Given the description of an element on the screen output the (x, y) to click on. 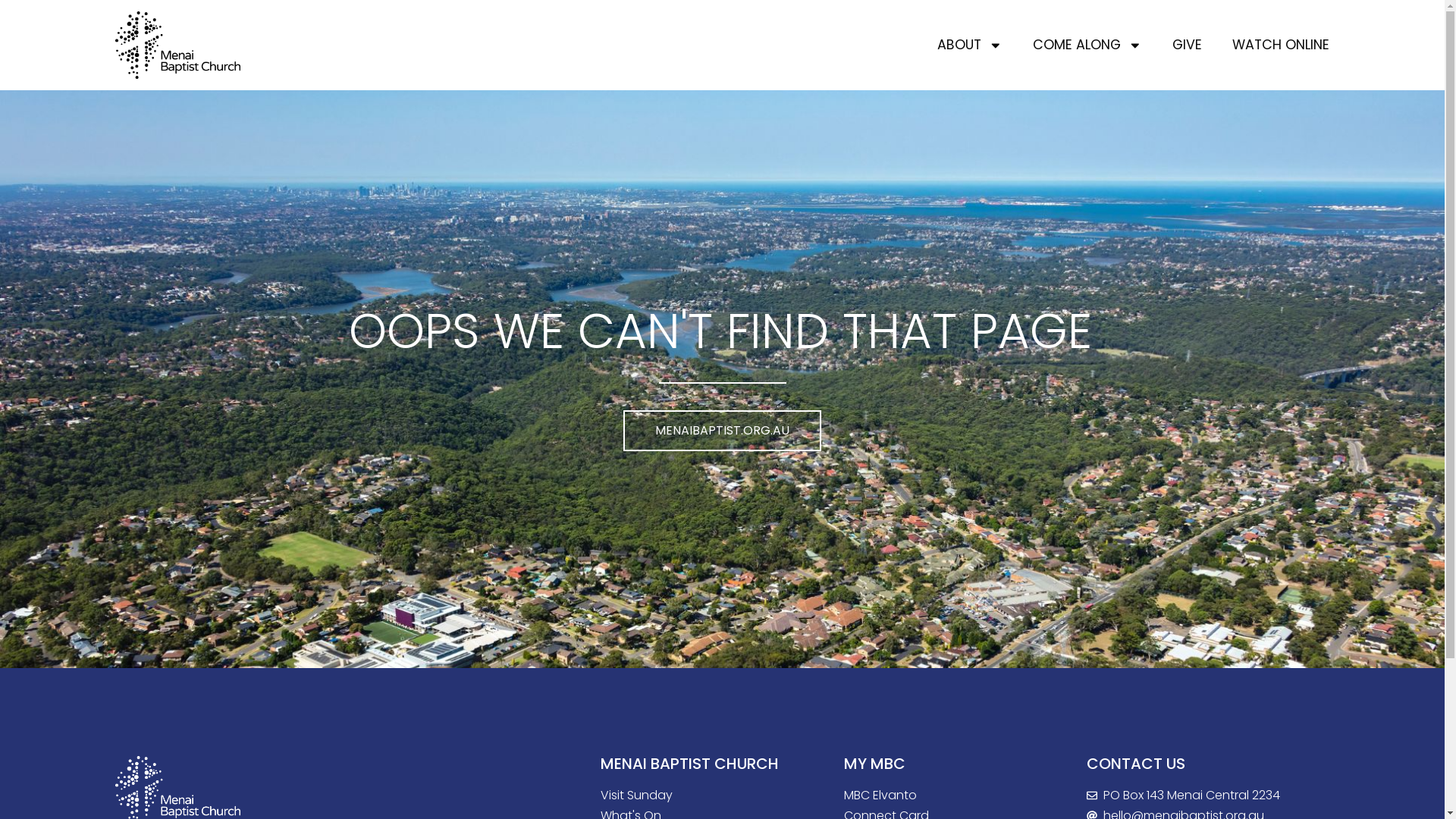
MBC Elvanto Element type: text (946, 794)
MENAIBAPTIST.ORG.AU Element type: text (722, 430)
WATCH ONLINE Element type: text (1280, 45)
GIVE Element type: text (1186, 45)
COME ALONG Element type: text (1087, 45)
ABOUT Element type: text (969, 45)
Visit Sunday Element type: text (703, 794)
